Given the description of an element on the screen output the (x, y) to click on. 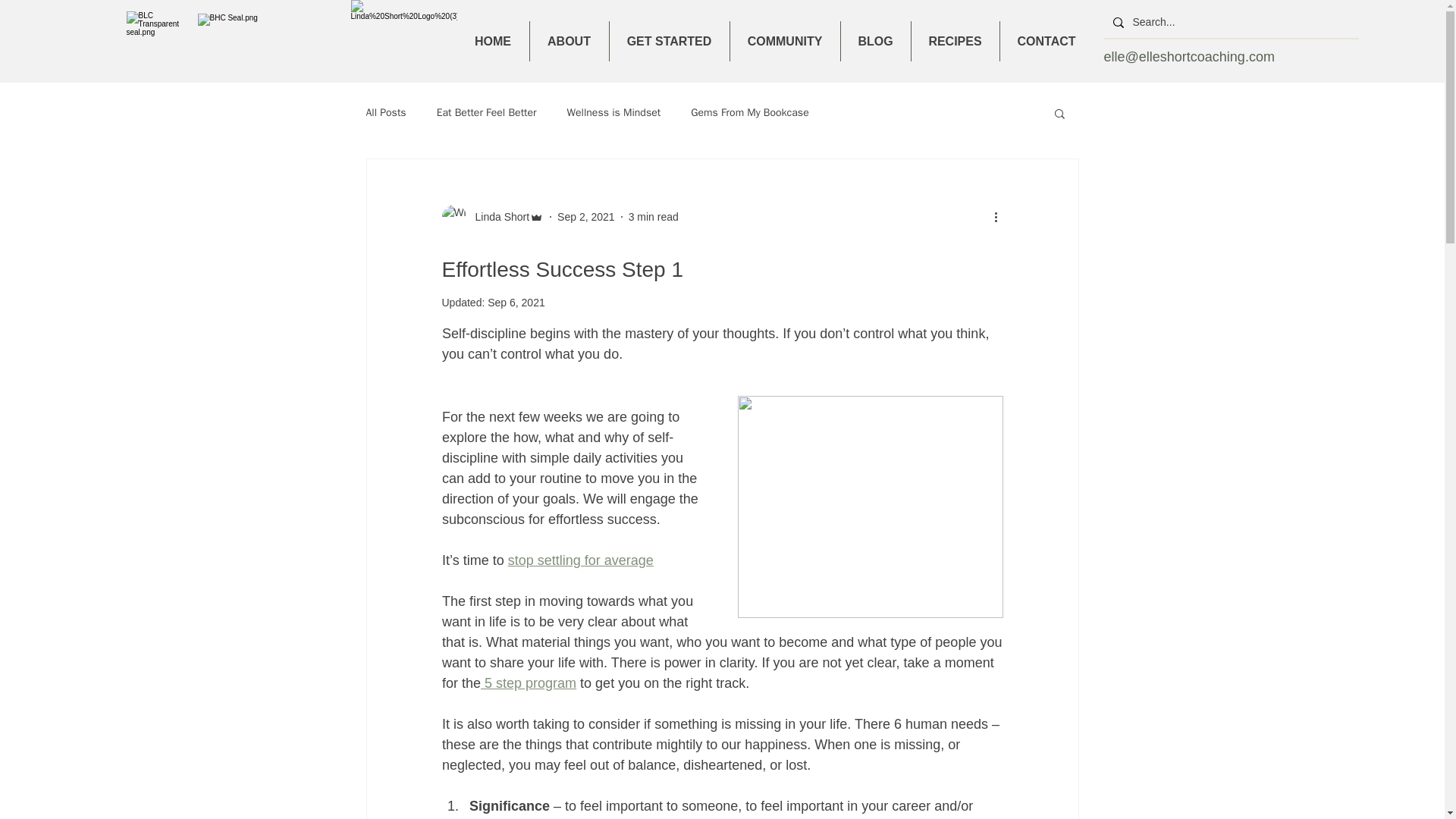
Sep 6, 2021 (515, 302)
BLOG (875, 41)
HOME (492, 41)
All Posts (385, 112)
Linda Short (492, 216)
RECIPES (954, 41)
 5 step program (528, 683)
COMMUNITY (784, 41)
Linda Short (497, 217)
Wellness is Mindset (614, 112)
